Given the description of an element on the screen output the (x, y) to click on. 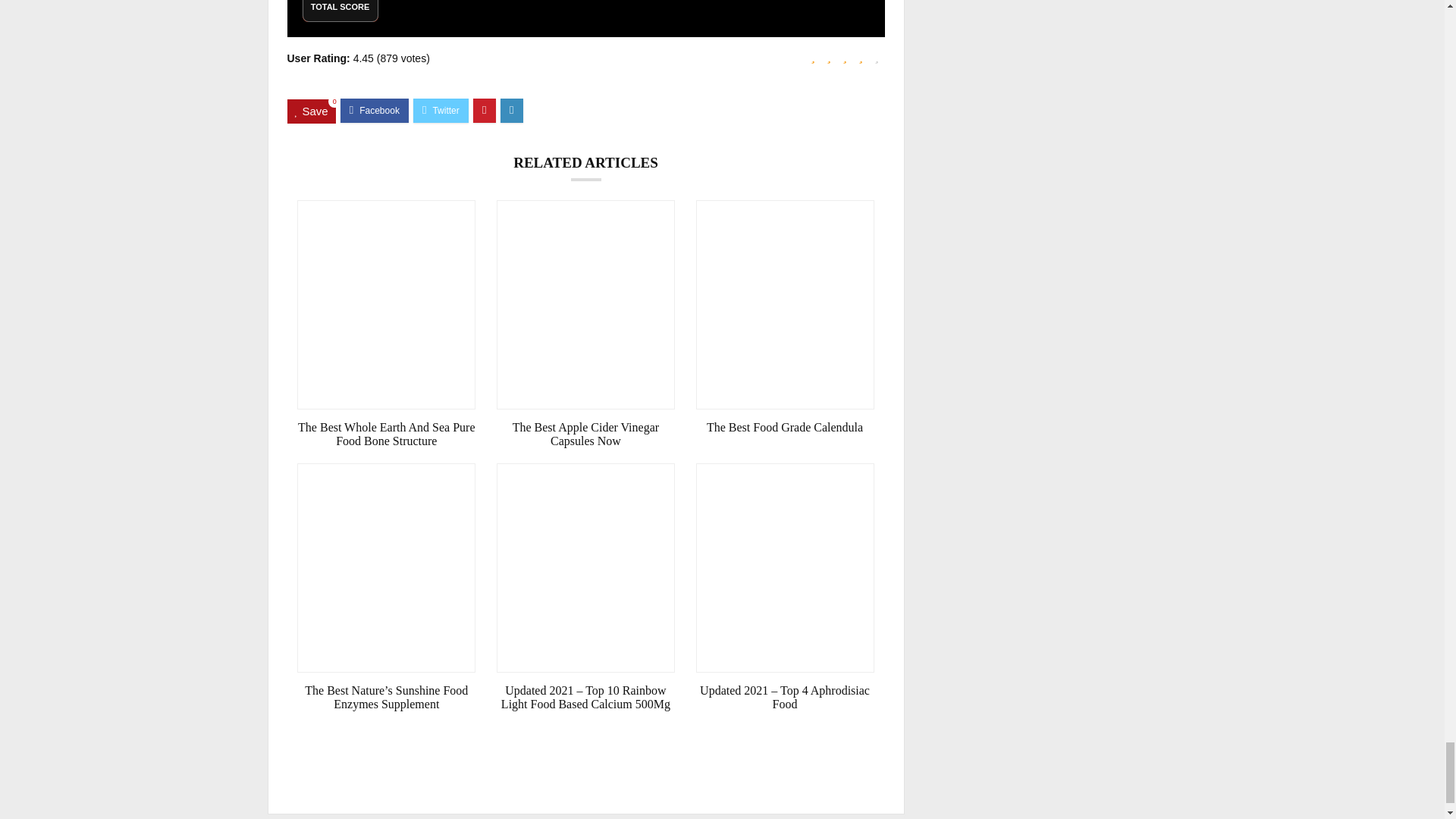
The Best Food Grade Calendula (785, 427)
The Best Apple Cider Vinegar Capsules Now (585, 433)
The Best Whole Earth And Sea Pure Food Bone Structure (386, 433)
